Given the description of an element on the screen output the (x, y) to click on. 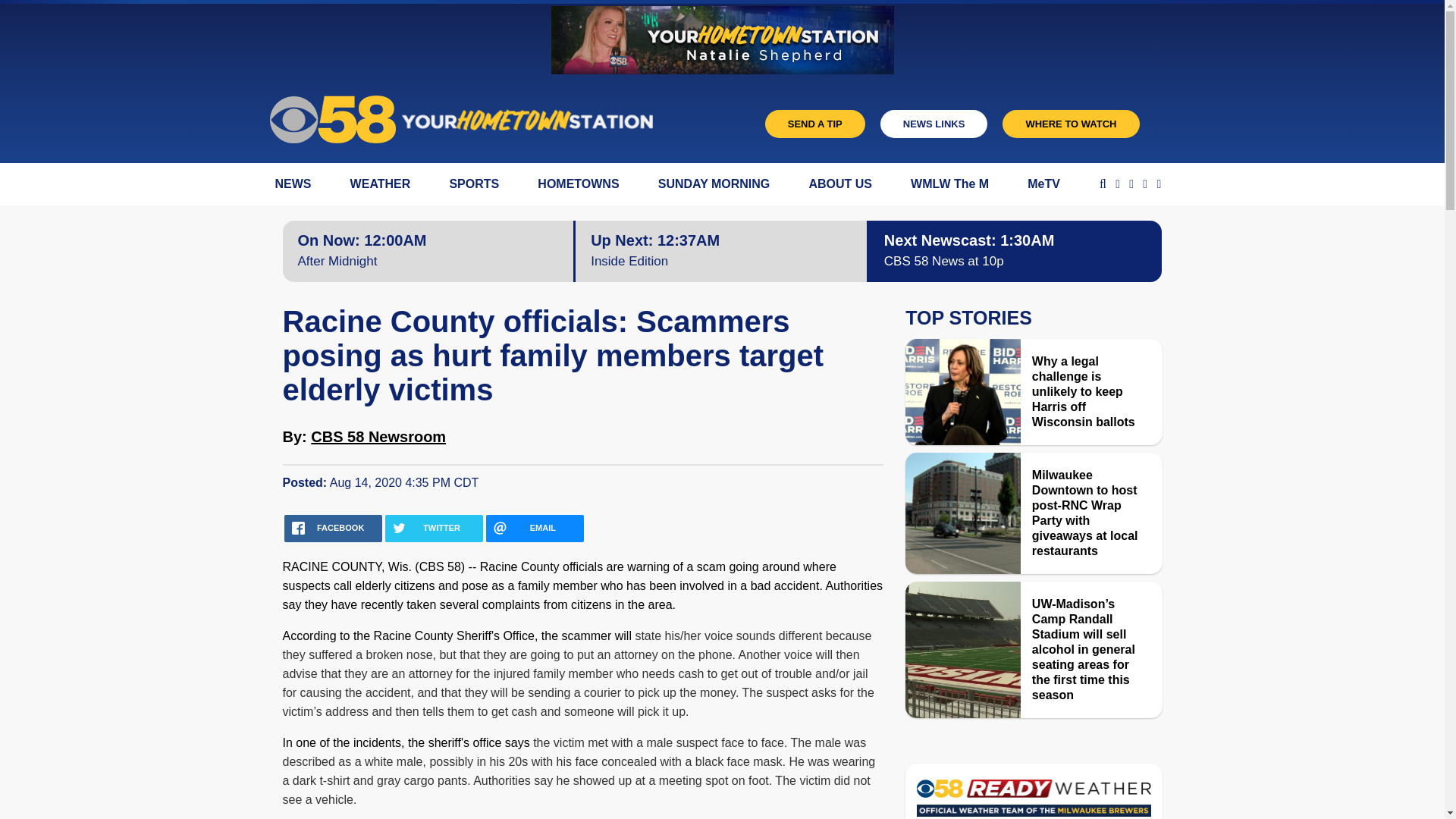
Weather (1033, 803)
